Given the description of an element on the screen output the (x, y) to click on. 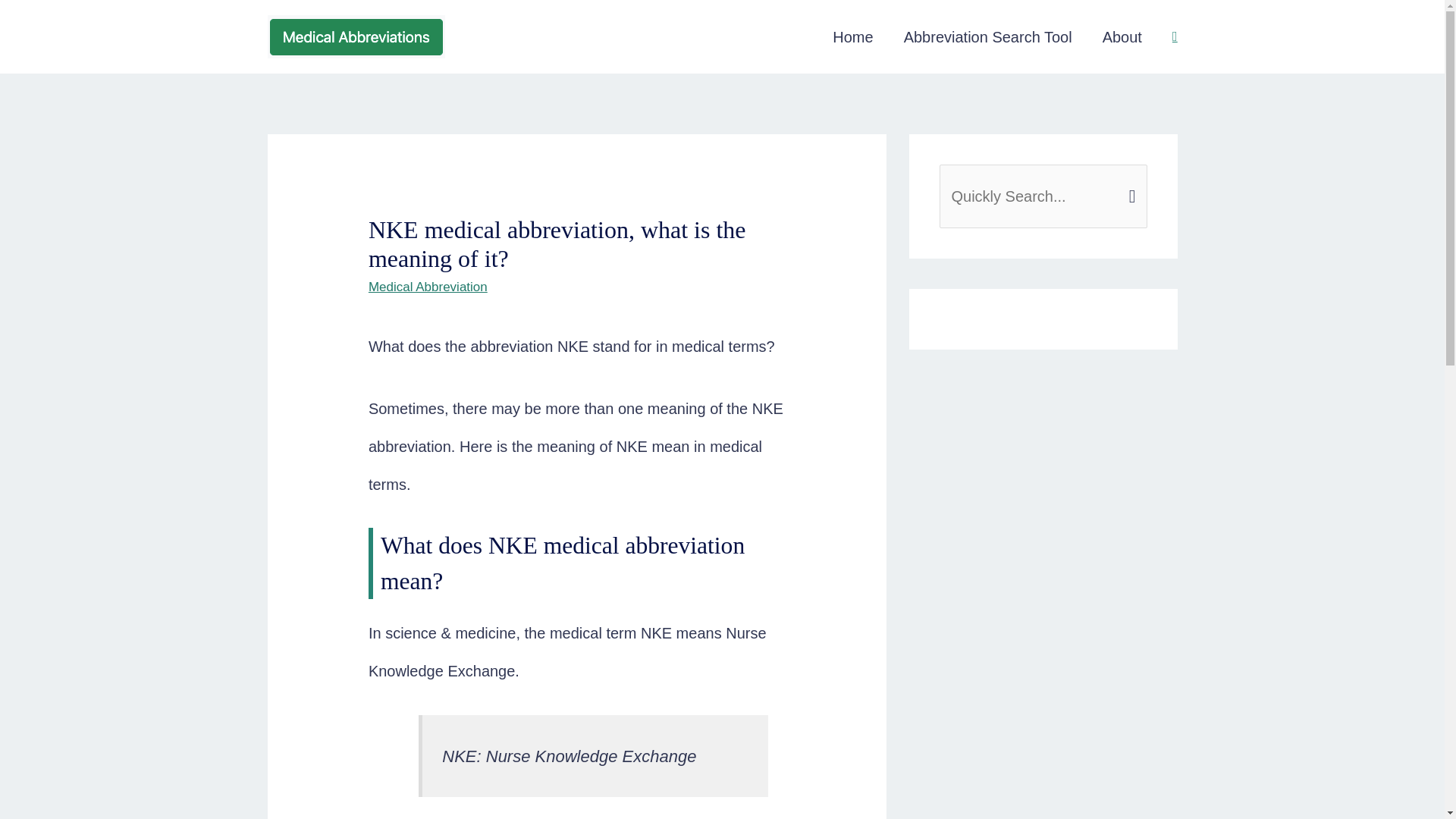
Home (852, 36)
About (1122, 36)
Search (1130, 181)
Search (1130, 181)
Search (1130, 181)
Abbreviation Search Tool (987, 36)
Medical Abbreviation (427, 287)
